Given the description of an element on the screen output the (x, y) to click on. 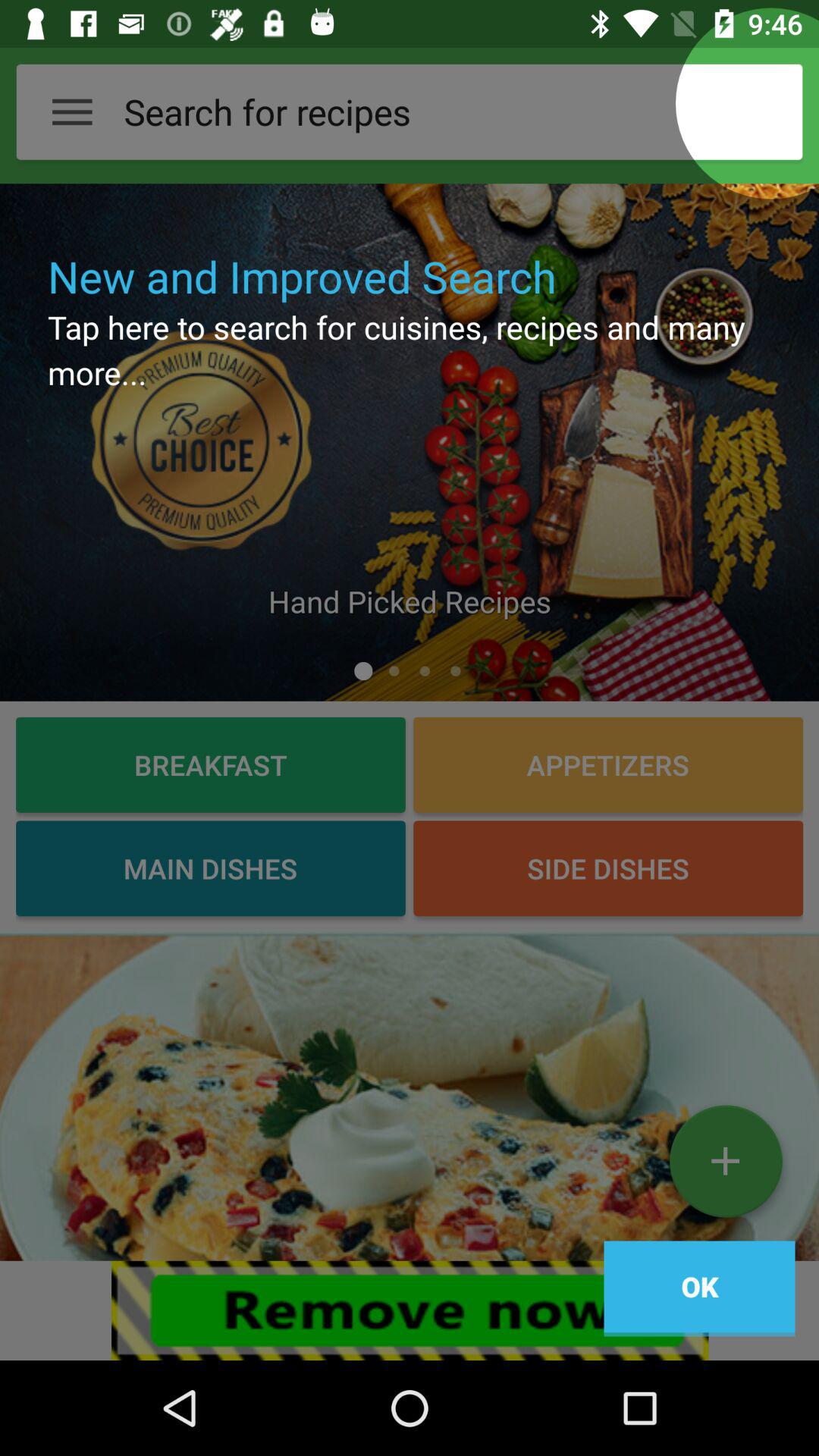
select picture (409, 1096)
